Given the description of an element on the screen output the (x, y) to click on. 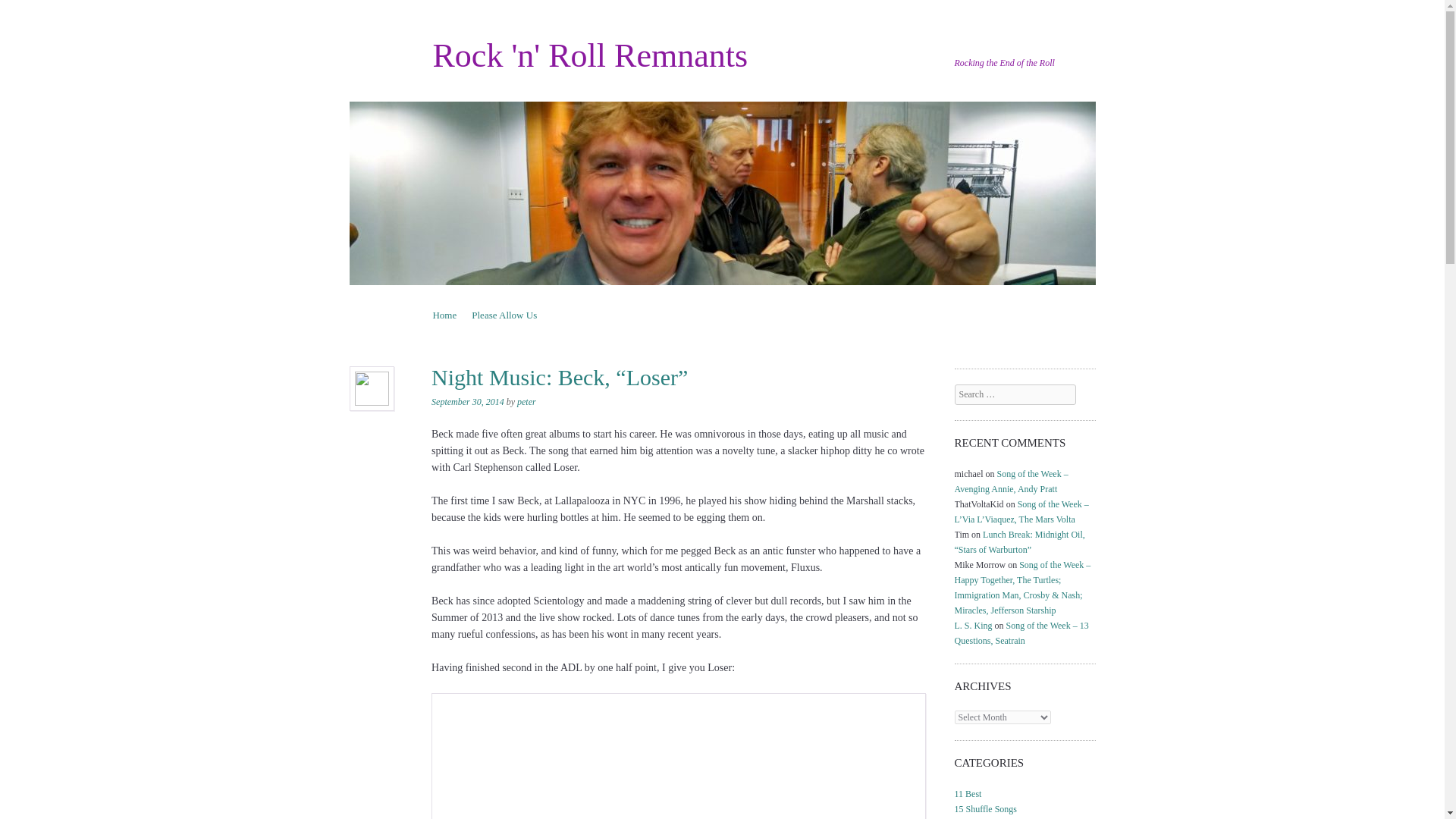
peter (525, 401)
Please Allow Us (504, 314)
4:48 am (466, 401)
Rock 'n' Roll Remnants (590, 55)
Home (444, 314)
L. S. King (973, 624)
Skip to content (462, 314)
Skip to content (462, 314)
September 30, 2014 (466, 401)
